Given the description of an element on the screen output the (x, y) to click on. 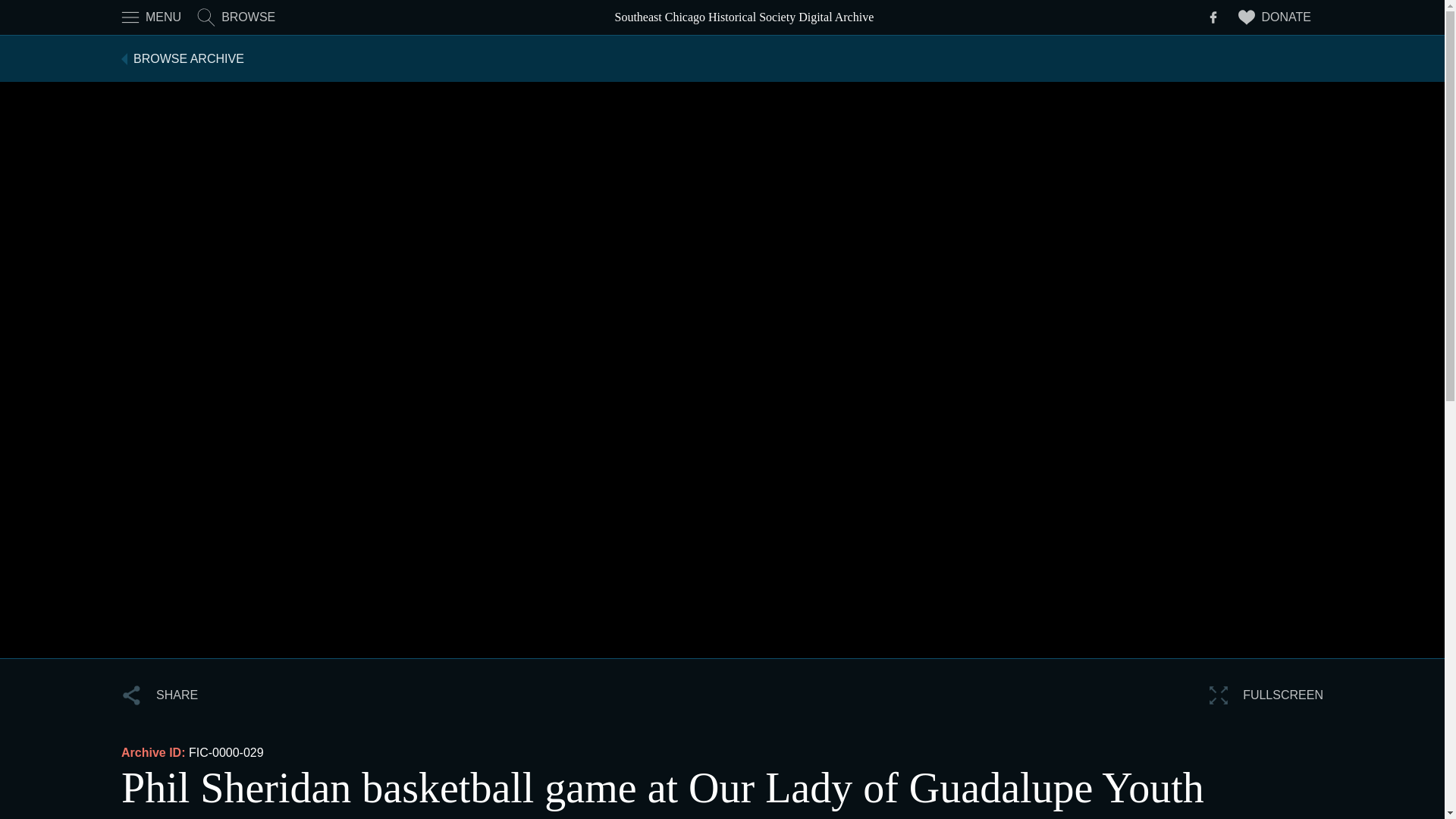
MENU (150, 16)
BROWSE (235, 16)
Southeast Chicago Historical Society Digital Archive (743, 17)
BROWSE ARCHIVE (182, 58)
DONATE (1274, 16)
FULLSCREEN (1265, 695)
SHARE (159, 695)
Facebook (1213, 16)
